Given the description of an element on the screen output the (x, y) to click on. 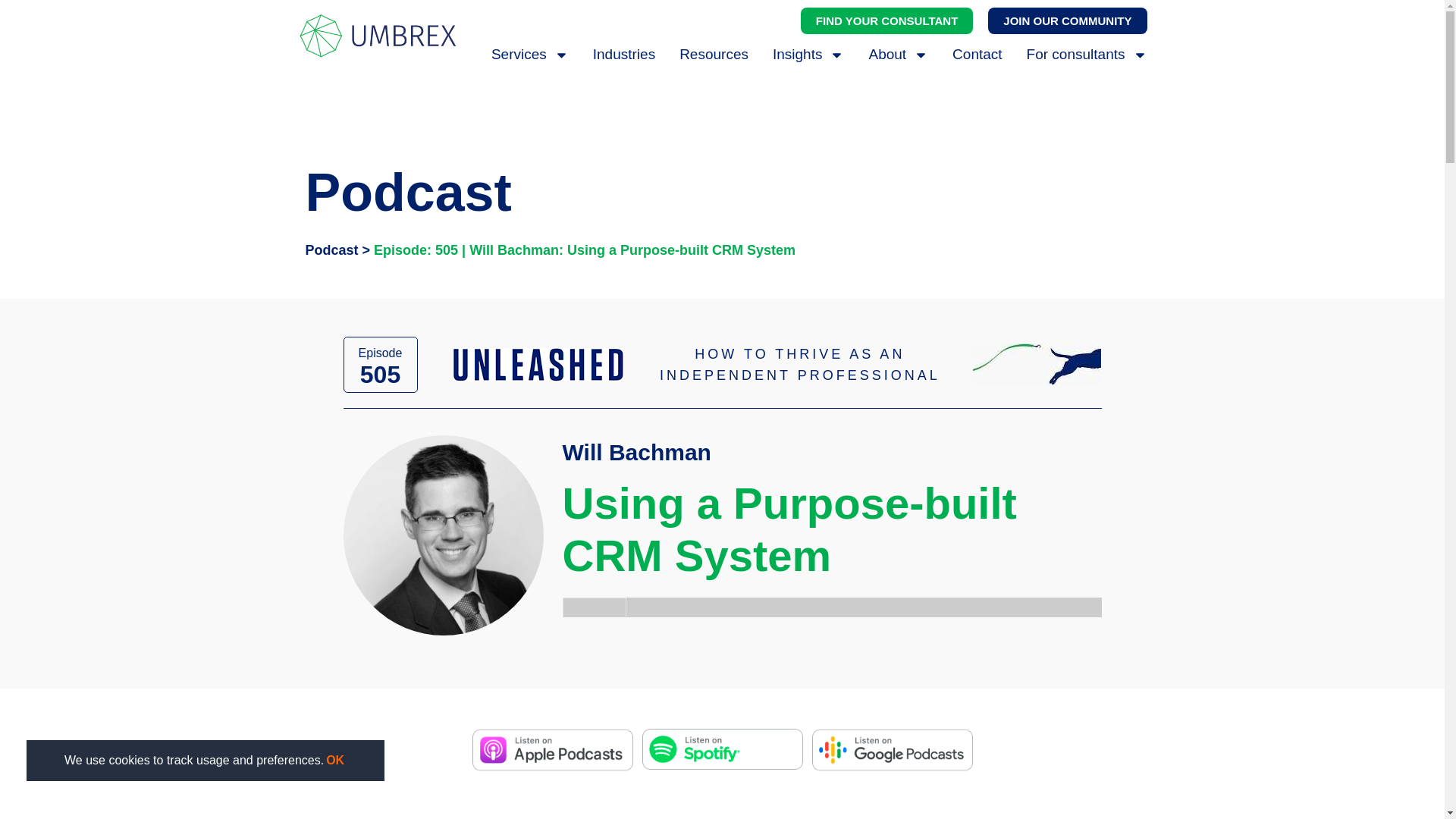
For consultants (1086, 54)
FIND YOUR CONSULTANT (887, 20)
Services (530, 54)
Insights (808, 54)
About (897, 54)
JOIN OUR COMMUNITY (1067, 20)
OK (334, 760)
Industries (623, 54)
Contact (976, 54)
Resources (713, 54)
